Given the description of an element on the screen output the (x, y) to click on. 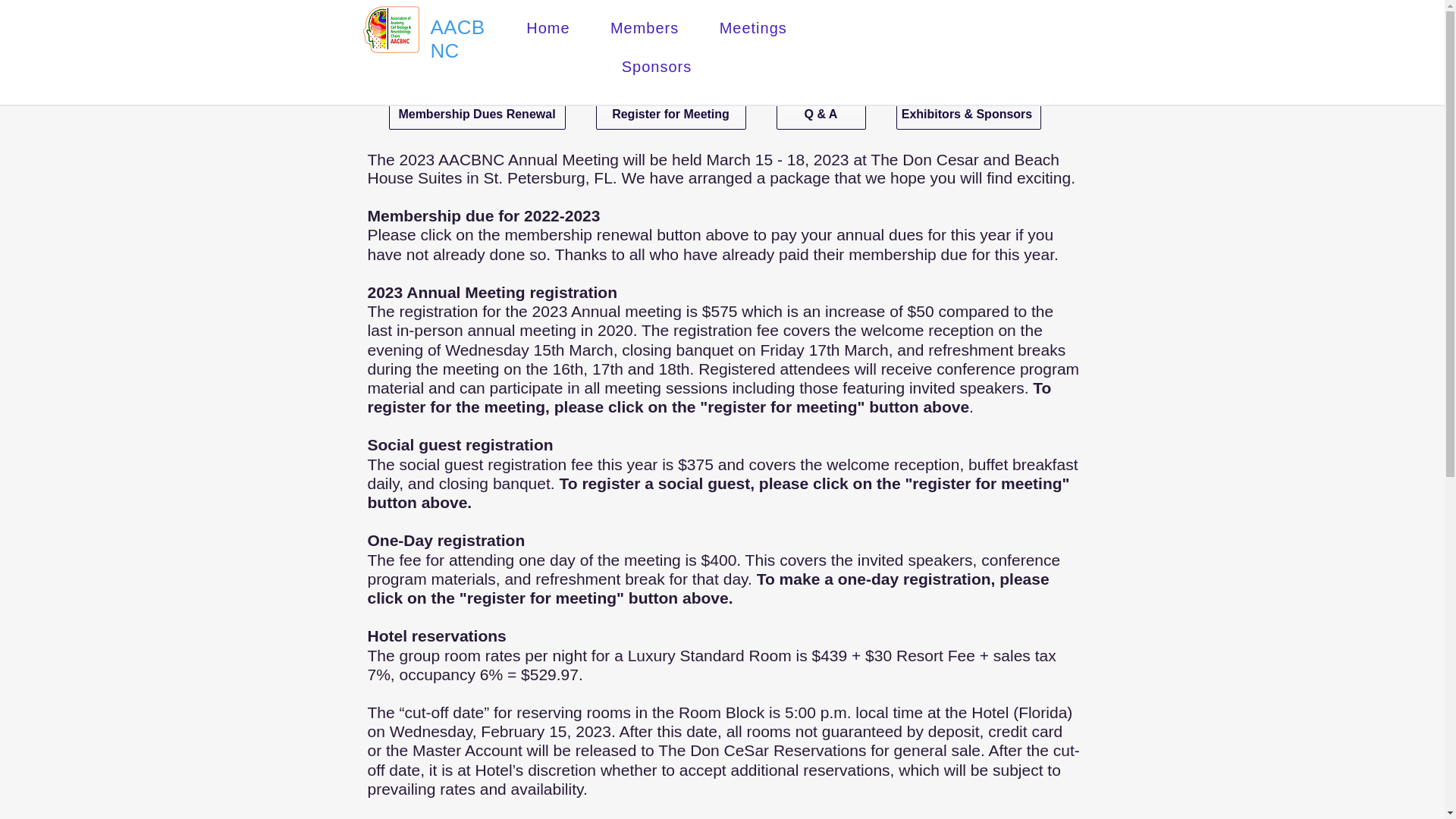
Members (643, 28)
Meetings (753, 28)
Home (548, 28)
Sponsors (657, 66)
Membership Dues Renewal (476, 114)
Register for Meeting (670, 114)
